Given the description of an element on the screen output the (x, y) to click on. 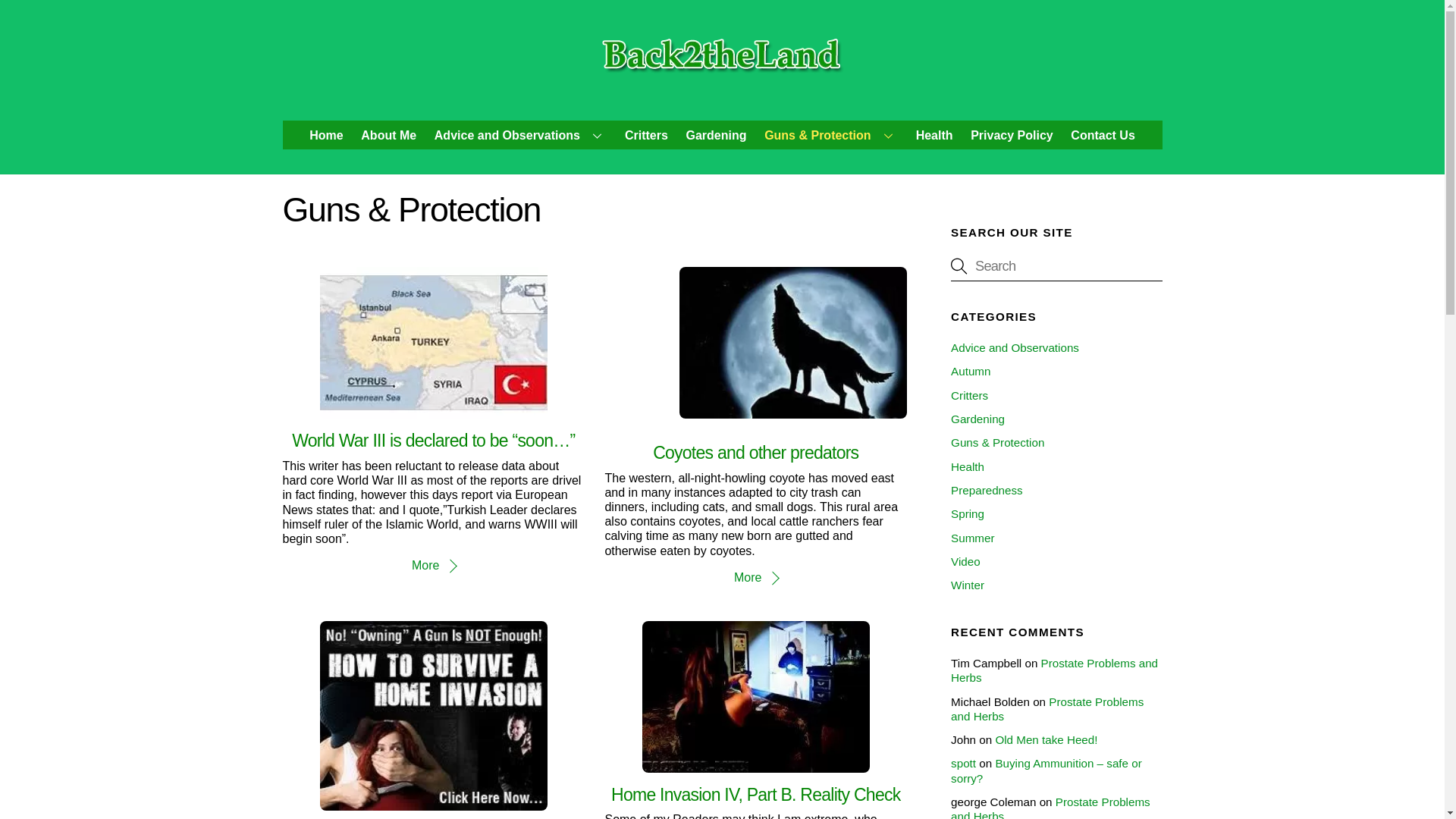
Advice and Observations (1014, 347)
Critters (646, 134)
Autumn (970, 370)
Coyotes and other predators (755, 452)
Home Invasion IV, Part B. Reality Check (755, 696)
More (755, 576)
Search (1055, 265)
Home (326, 134)
Advice and Observations (520, 134)
Critters (969, 395)
